Given the description of an element on the screen output the (x, y) to click on. 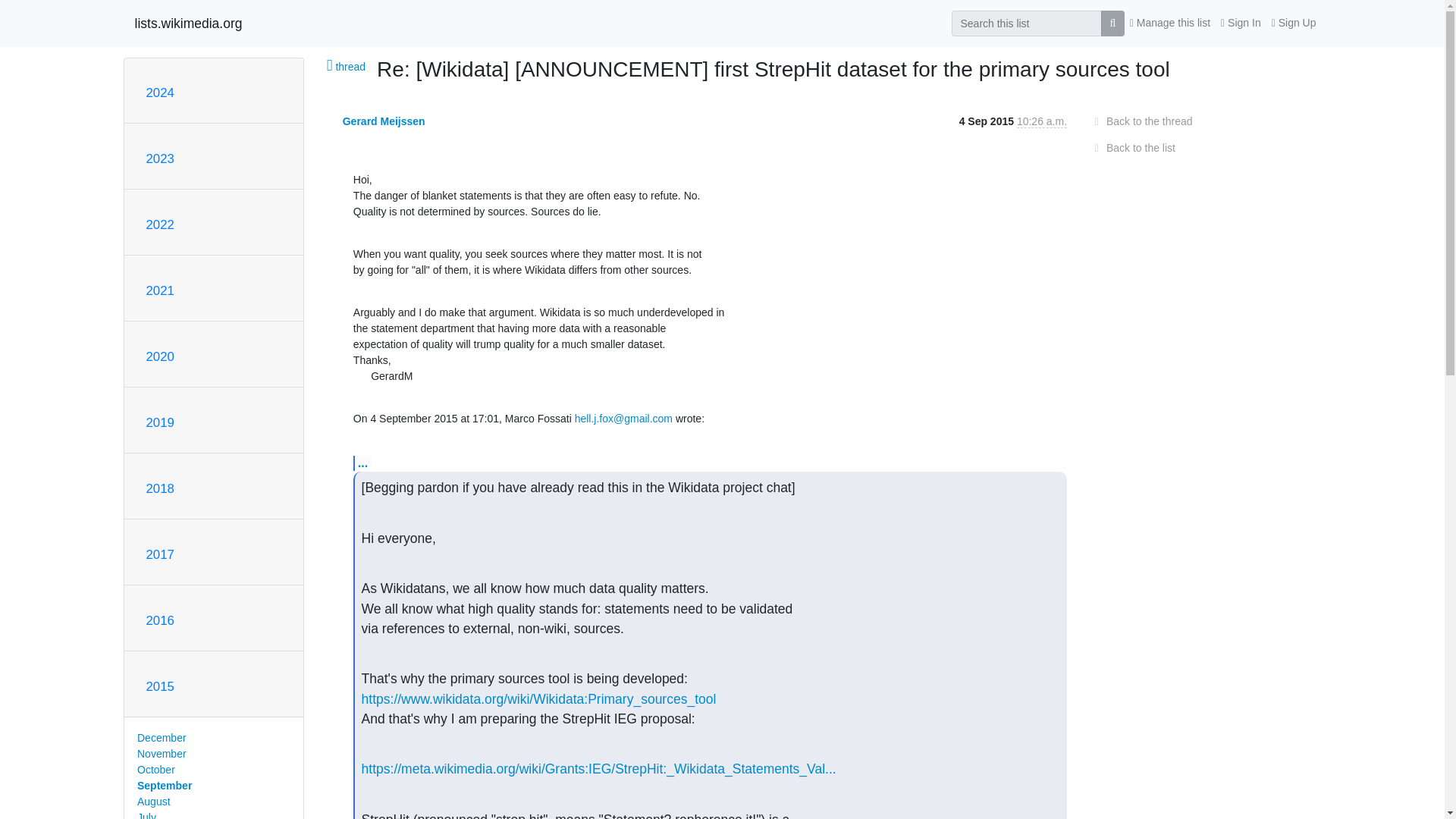
Sender's time: Sept. 4, 2015, 7:26 p.m. (1041, 121)
lists.wikimedia.org (189, 22)
2023 (159, 158)
Sign In (1240, 22)
Sign Up (1294, 22)
Manage this list (1169, 22)
See the profile for Gerard Meijssen (383, 121)
2024 (159, 92)
2022 (159, 224)
